Given the description of an element on the screen output the (x, y) to click on. 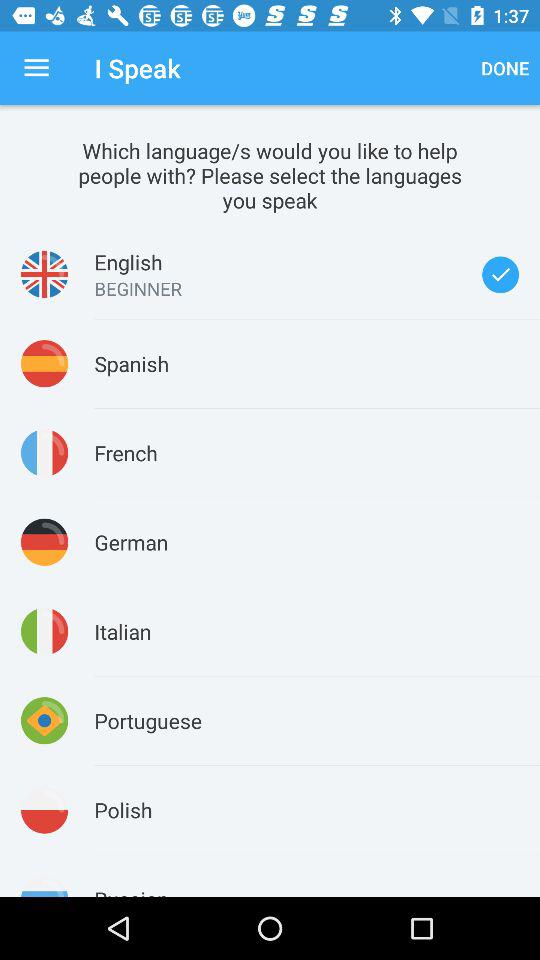
flip until done icon (505, 67)
